Given the description of an element on the screen output the (x, y) to click on. 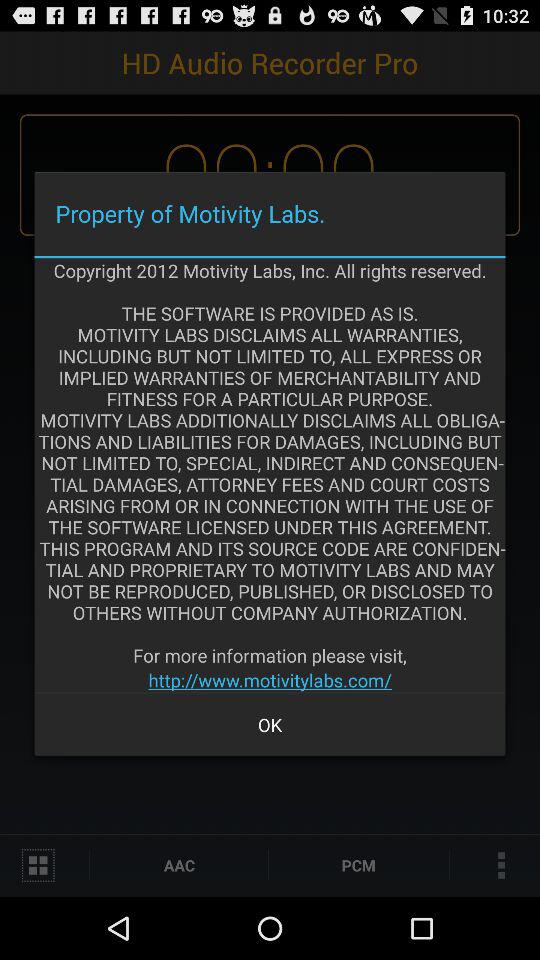
open the item below copyright 2012 motivity (269, 679)
